Given the description of an element on the screen output the (x, y) to click on. 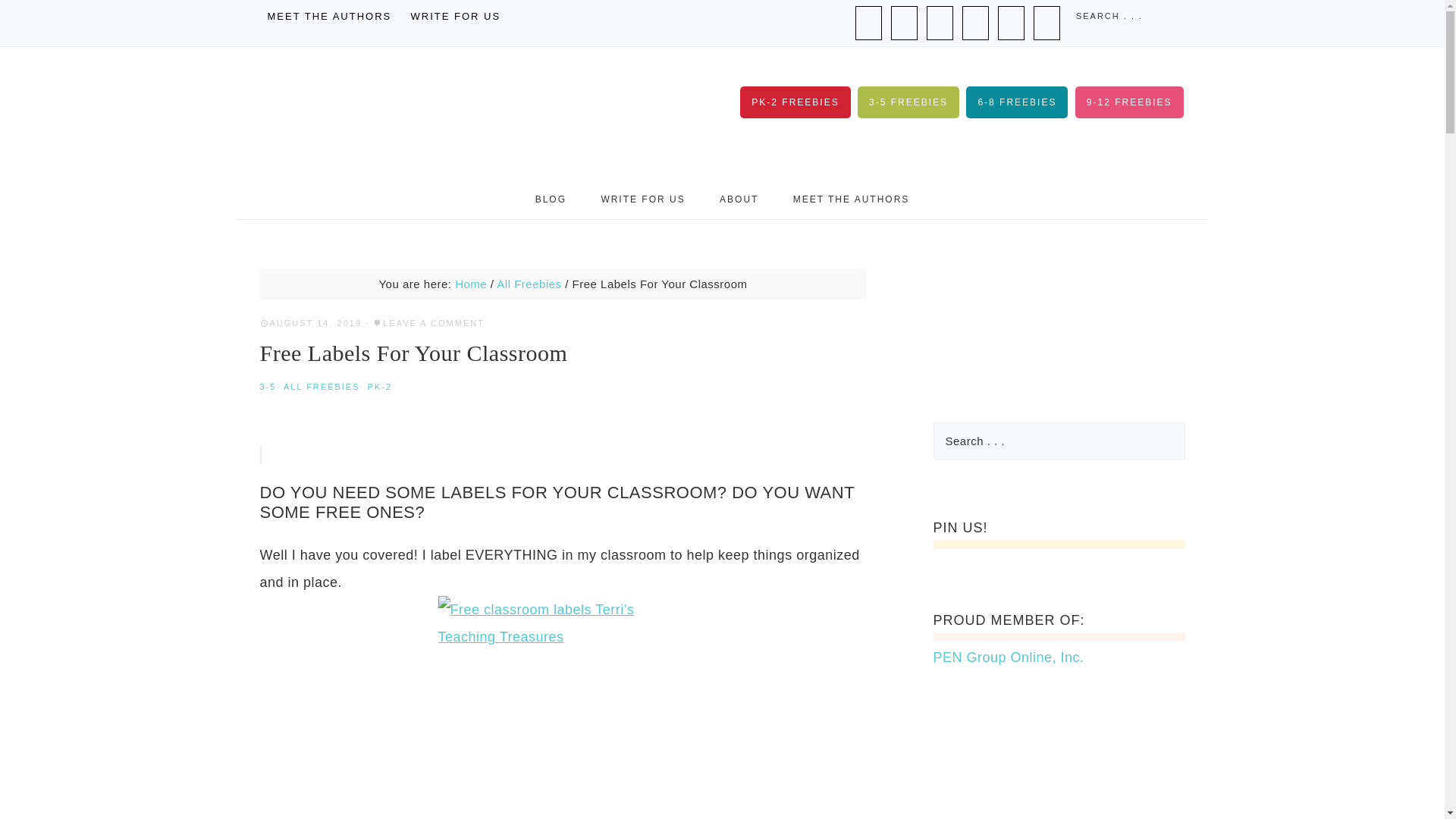
3-5 FREEBIES (908, 101)
WRITE FOR US (455, 16)
All Freebies (528, 283)
MEET THE AUTHORS (850, 199)
BLOG (549, 199)
PK-2 FREEBIES (794, 101)
MEET THE AUTHORS (328, 16)
Home (470, 283)
CLASSROOM FREEBIES (410, 113)
3-5 (267, 386)
WRITE FOR US (642, 199)
ABOUT (738, 199)
ALL FREEBIES (321, 386)
